Given the description of an element on the screen output the (x, y) to click on. 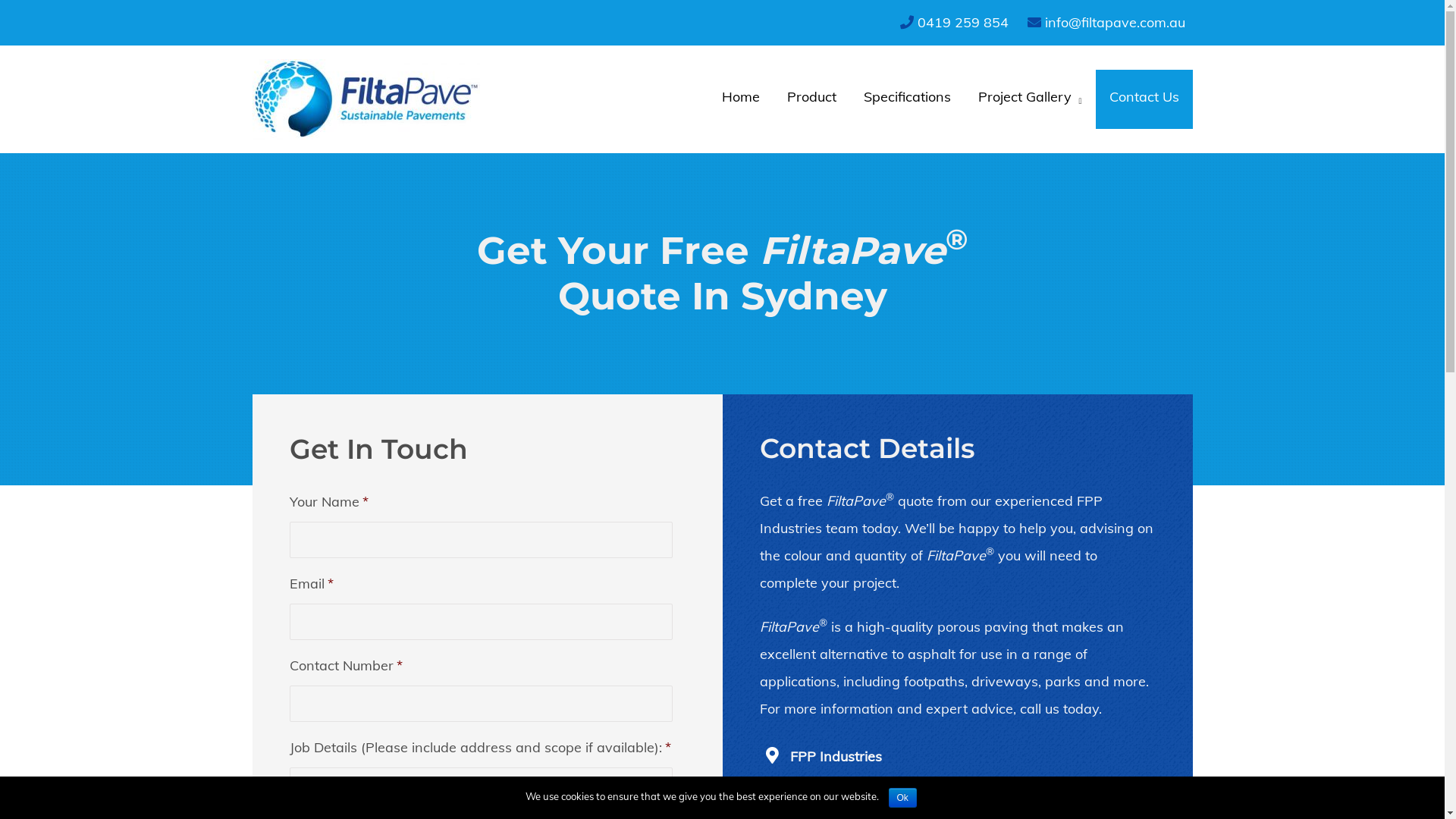
Home Element type: text (740, 98)
0419 259 854 Element type: text (962, 22)
Ok Element type: text (902, 797)
Project Gallery Element type: text (1029, 98)
Contact Us Element type: text (1143, 98)
Specifications Element type: text (907, 98)
info@filtapave.com.au Element type: text (1114, 22)
Product Element type: text (811, 98)
